Given the description of an element on the screen output the (x, y) to click on. 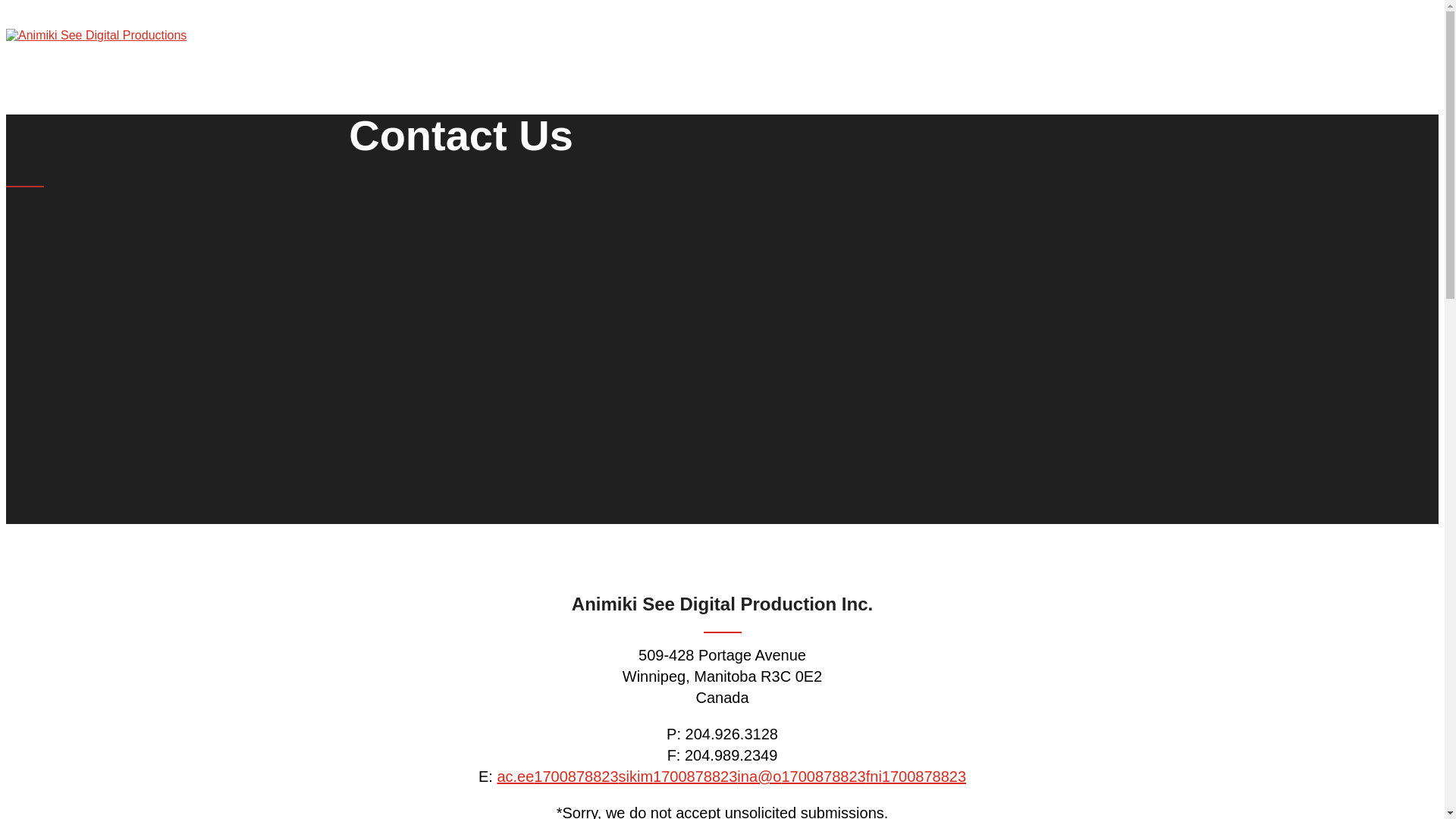
ac.ee1700878823sikim1700878823ina@o1700878823fni1700878823 Element type: text (731, 776)
